Given the description of an element on the screen output the (x, y) to click on. 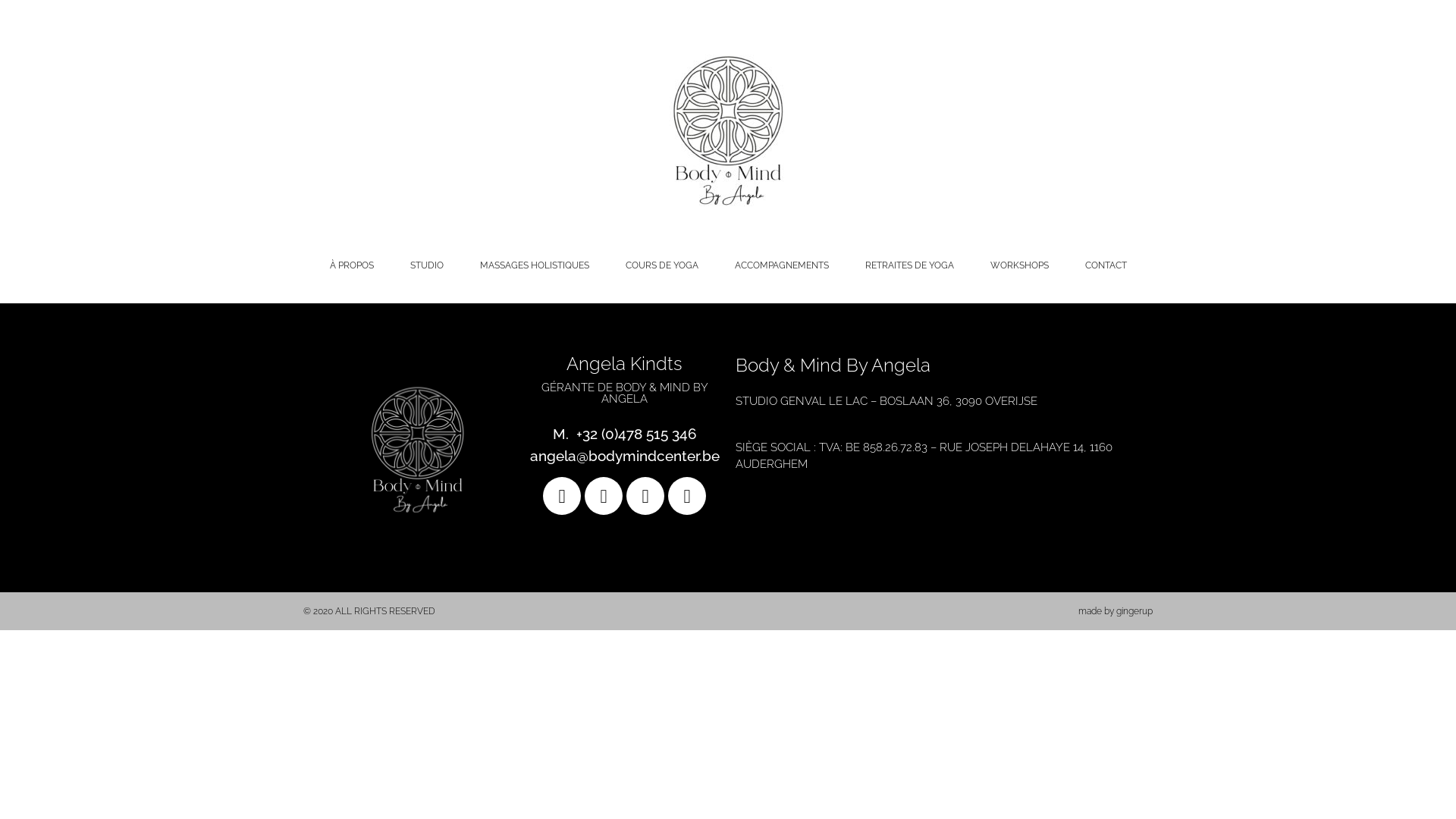
angela@bodymindcenter.be Element type: text (623, 455)
WORKSHOPS Element type: text (1019, 265)
ACCOMPAGNEMENTS Element type: text (780, 265)
MASSAGES HOLISTIQUES Element type: text (533, 265)
CONTACT Element type: text (1105, 265)
32 (0)478 515 346 Element type: text (639, 433)
COURS DE YOGA Element type: text (660, 265)
RETRAITES DE YOGA Element type: text (908, 265)
STUDIO Element type: text (426, 265)
